Given the description of an element on the screen output the (x, y) to click on. 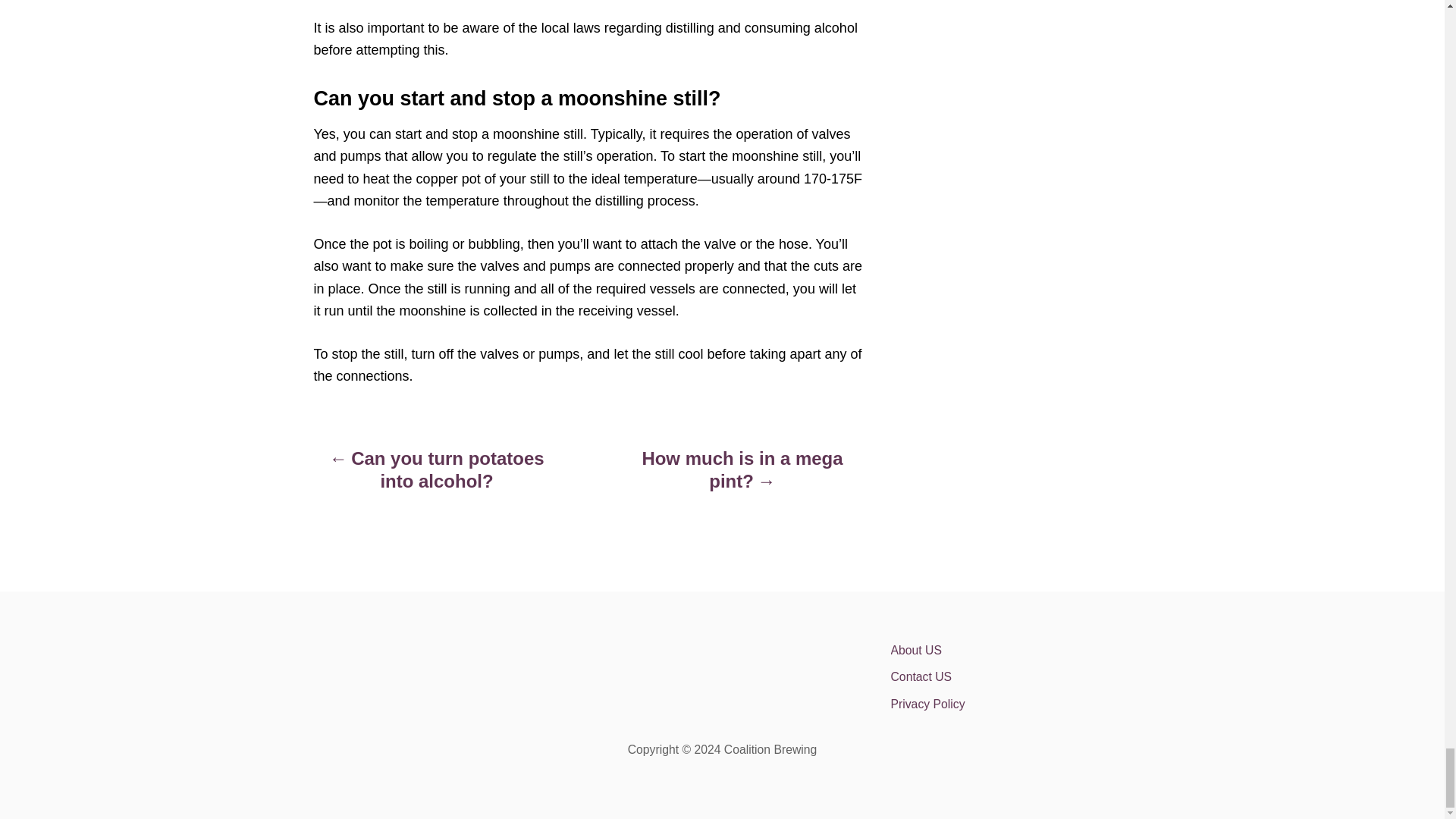
About US (1021, 650)
Contact US (1021, 677)
How much is in a mega pint? (741, 477)
Can you turn potatoes into alcohol? (437, 477)
